Given the description of an element on the screen output the (x, y) to click on. 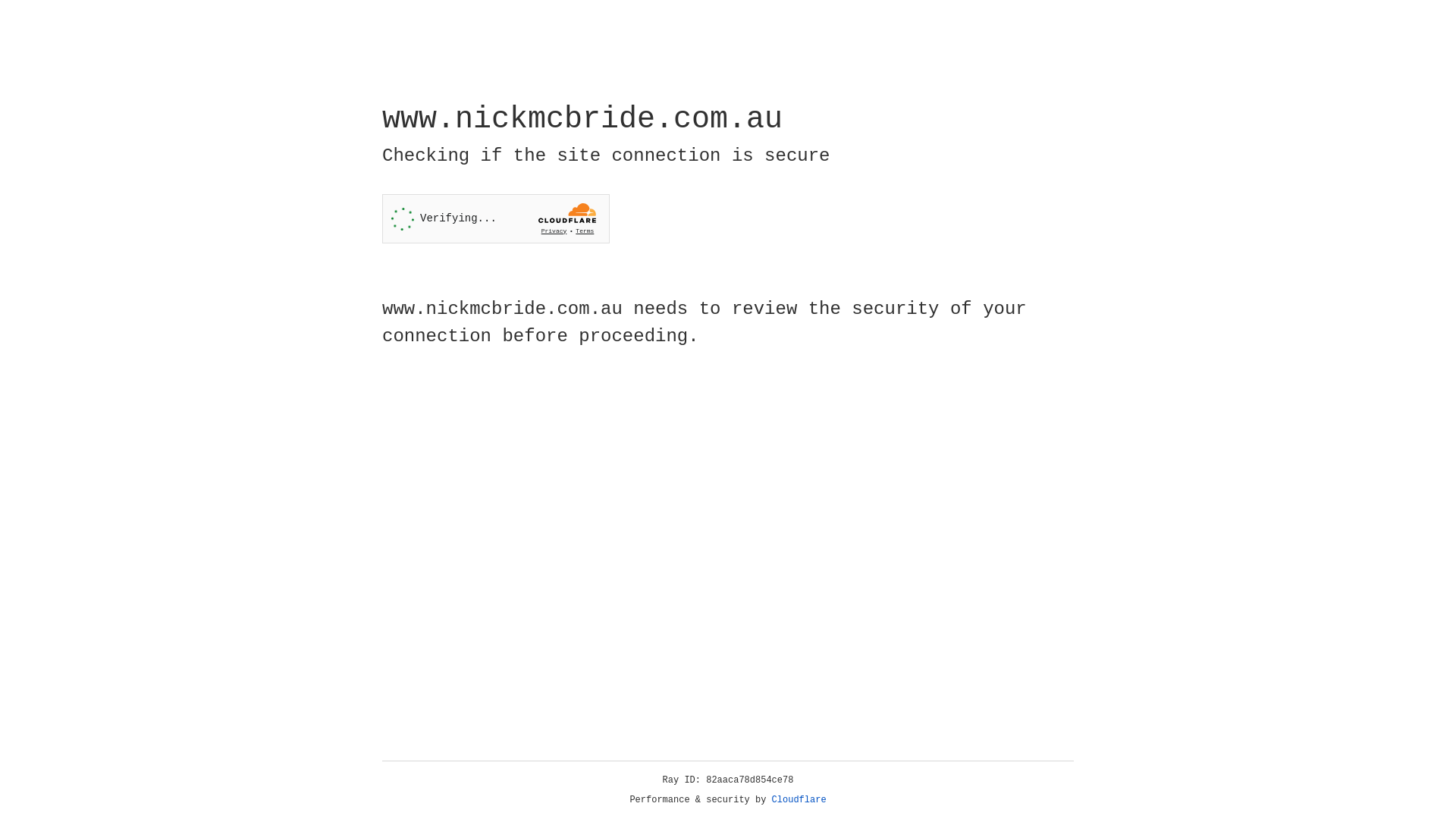
Cloudflare Element type: text (798, 799)
